Given the description of an element on the screen output the (x, y) to click on. 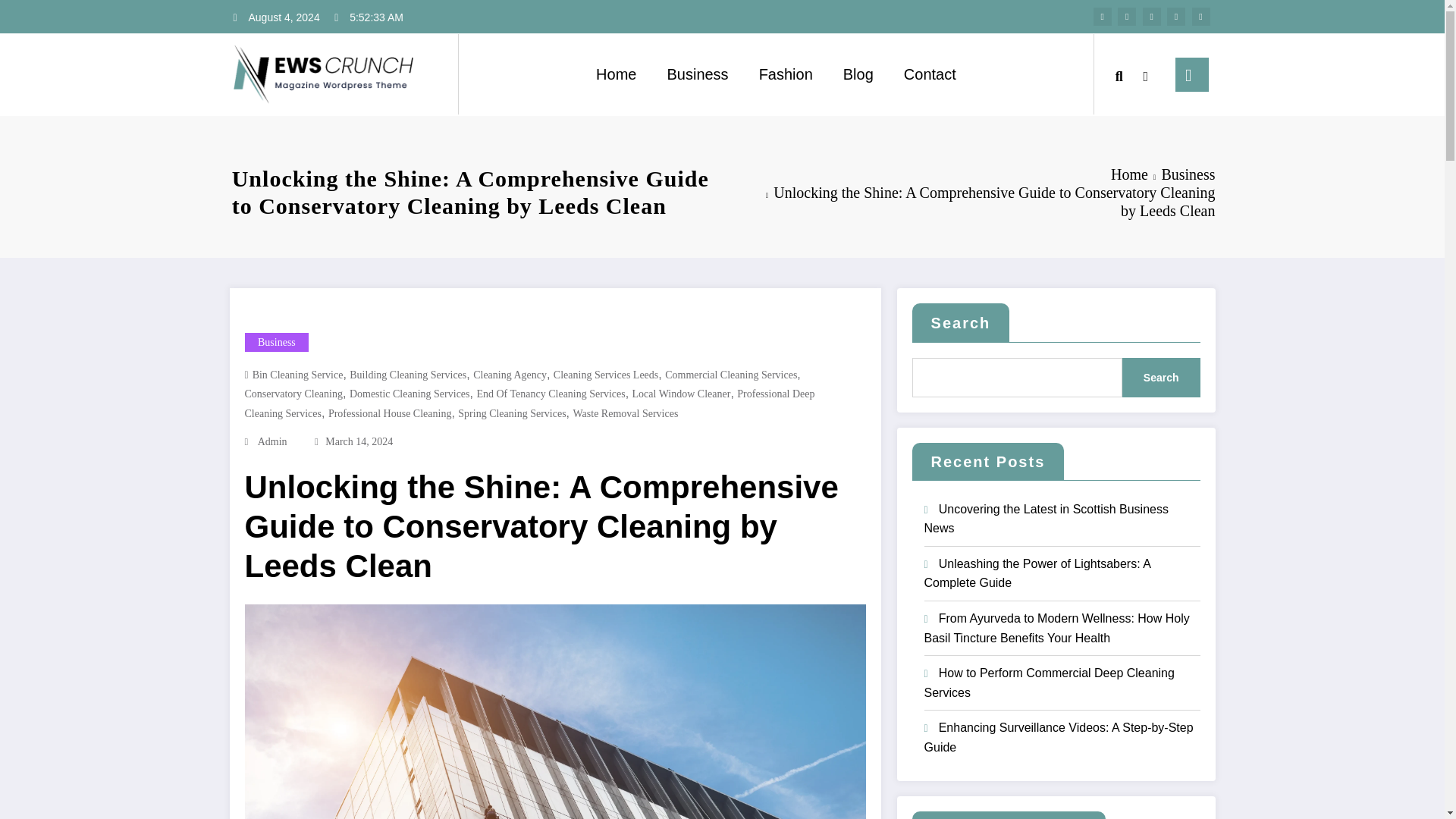
Contact (929, 74)
Fashion (786, 74)
facebook-f (1102, 16)
Home (615, 74)
instagram (1176, 16)
Blog (858, 74)
Business (276, 342)
Bin Cleaning Service (297, 374)
Business (1187, 174)
Business (696, 74)
Toggle Icon (1191, 74)
Home (1129, 174)
dribbble (1151, 16)
fa-brands fa-x-twitter (1126, 16)
Building Cleaning Services (407, 374)
